Given the description of an element on the screen output the (x, y) to click on. 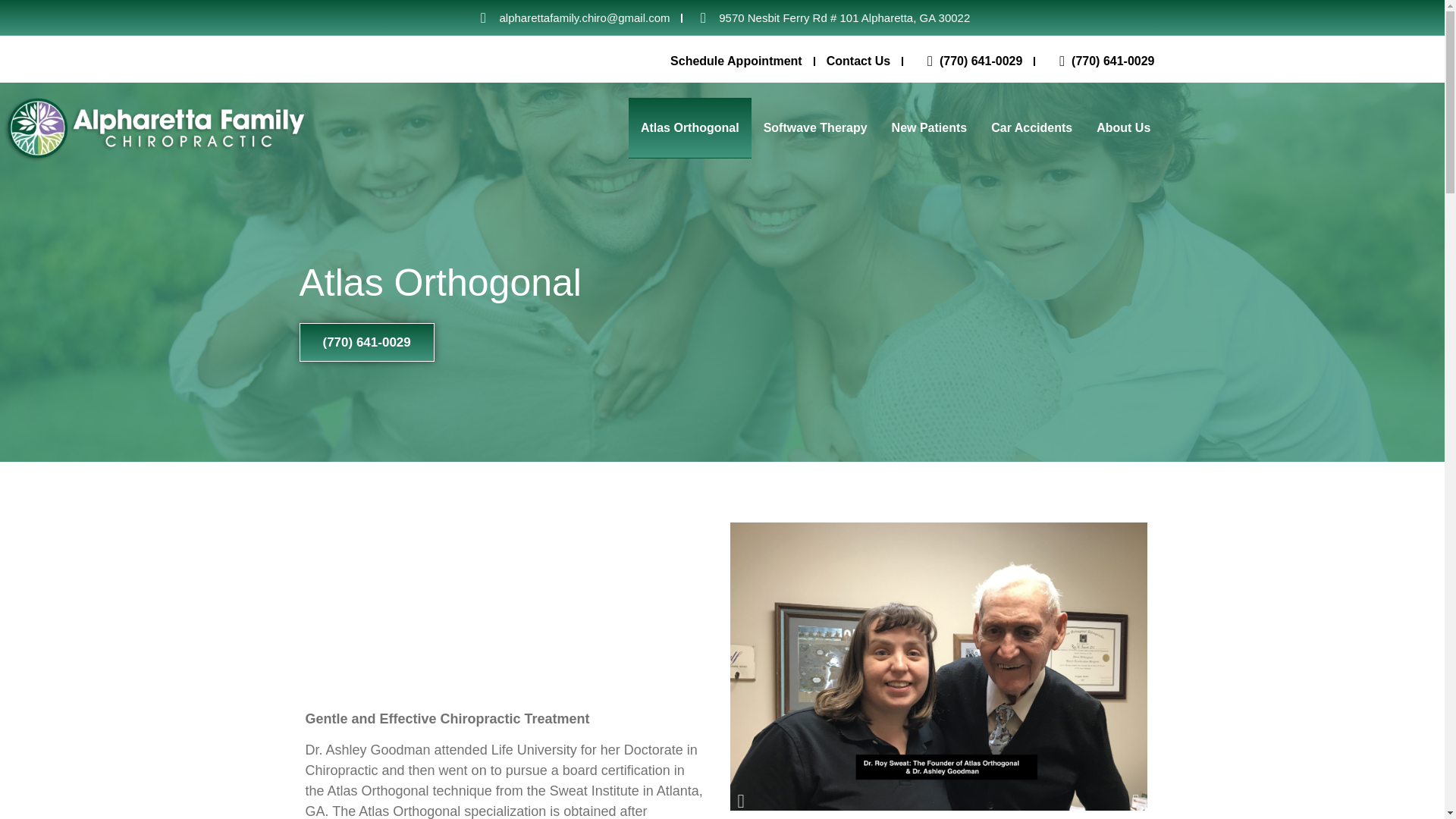
Schedule Appointment (735, 60)
Atlas Orthogonal (689, 127)
Contact Us (858, 60)
Softwave Therapy (815, 127)
About Us (1122, 127)
Car Accidents (1031, 127)
New Patients (929, 127)
